Given the description of an element on the screen output the (x, y) to click on. 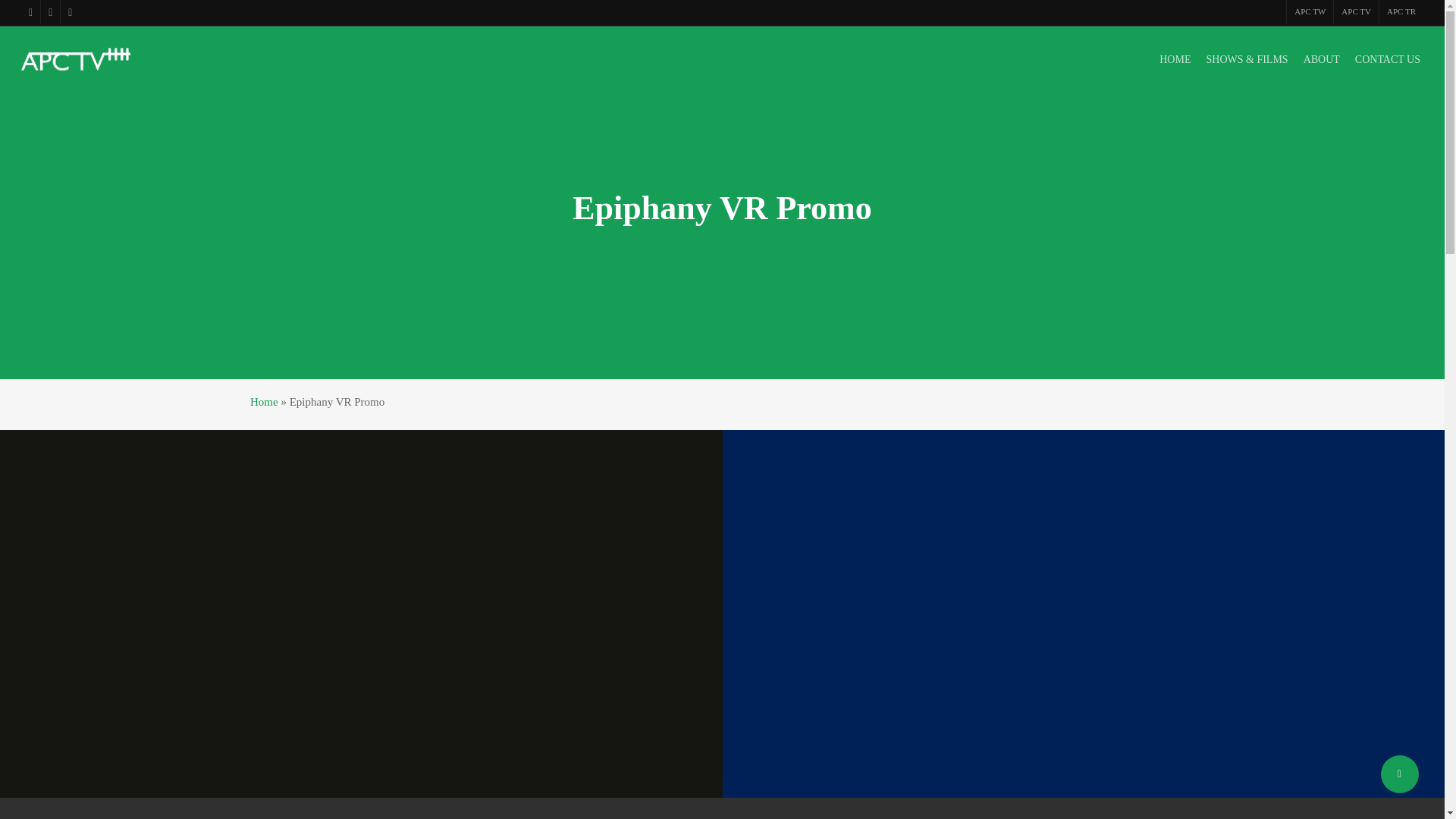
APC TR (1400, 11)
Home (264, 401)
HOME (1174, 58)
CONTACT US (1388, 58)
APC TV (1355, 11)
APC TW (1309, 11)
ABOUT (1321, 58)
